Given the description of an element on the screen output the (x, y) to click on. 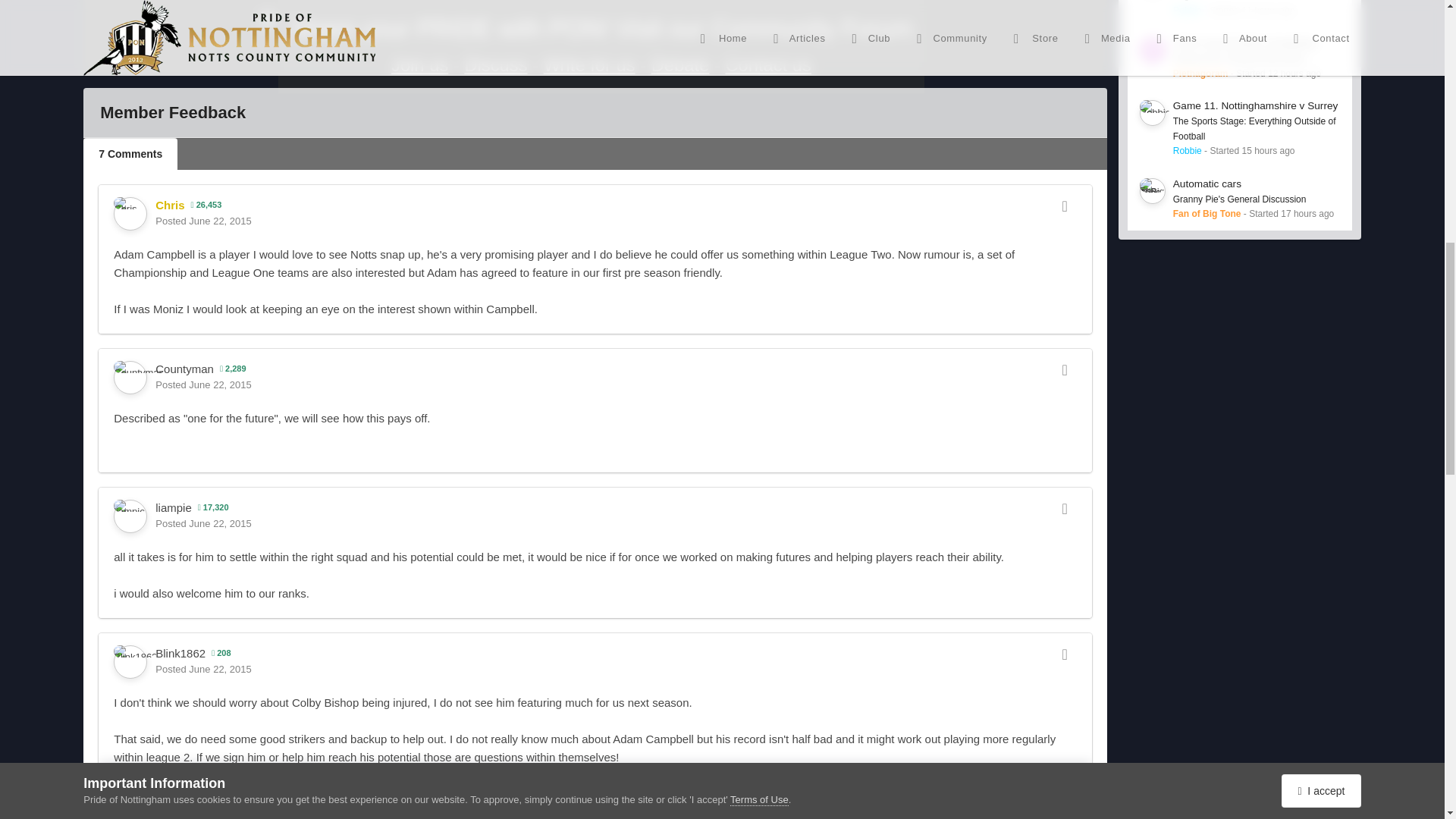
Go to Chris's profile (130, 213)
Go to Chris's profile (169, 205)
Member's total reputation (206, 205)
7 Comments (129, 153)
